Given the description of an element on the screen output the (x, y) to click on. 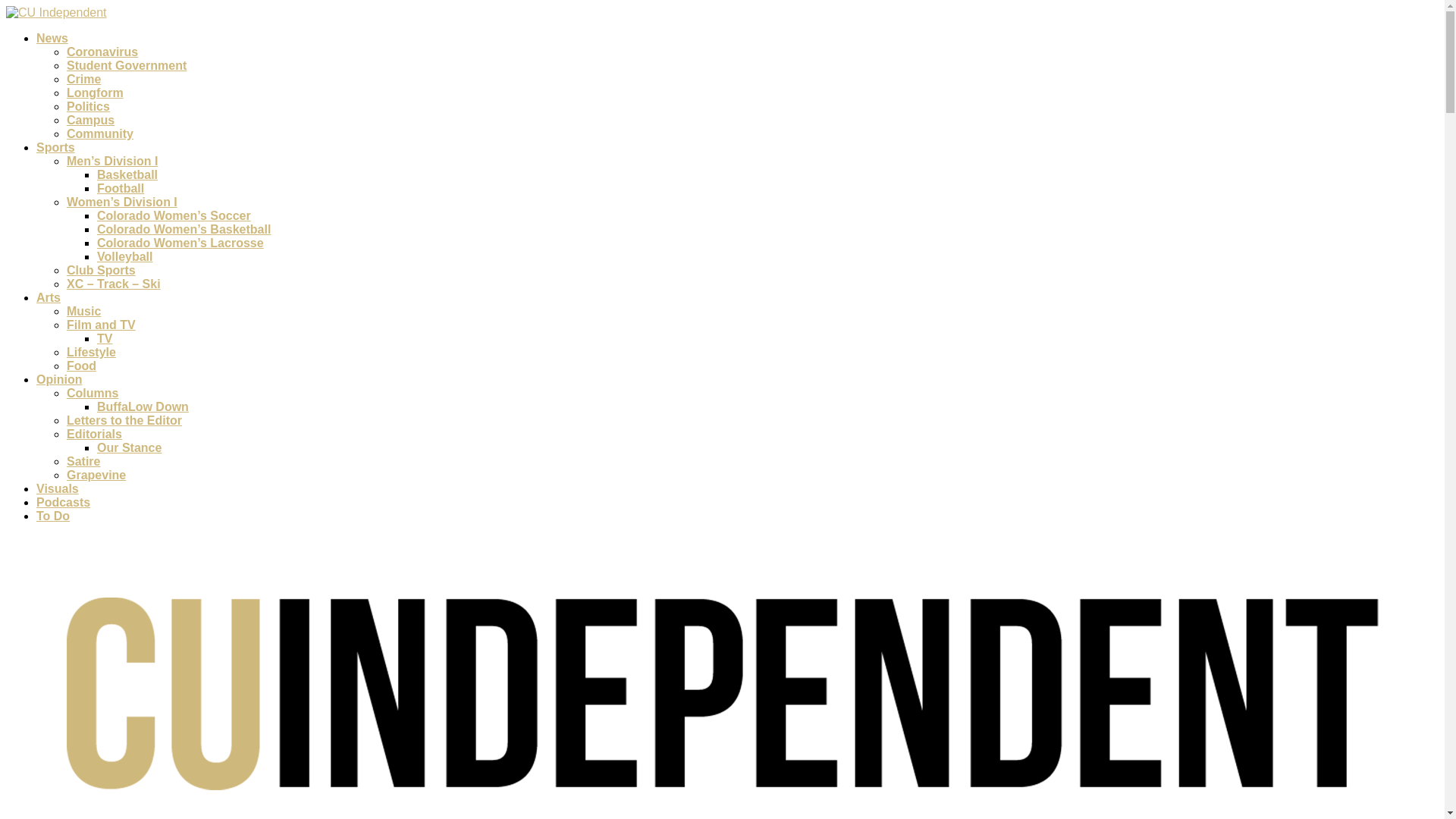
Volleyball (124, 256)
Basketball (127, 174)
Campus (90, 119)
Lifestyle (91, 351)
News (52, 38)
Letters to the Editor (124, 420)
Politics (88, 106)
TV (104, 338)
Club Sports (100, 269)
Sports (55, 146)
